Given the description of an element on the screen output the (x, y) to click on. 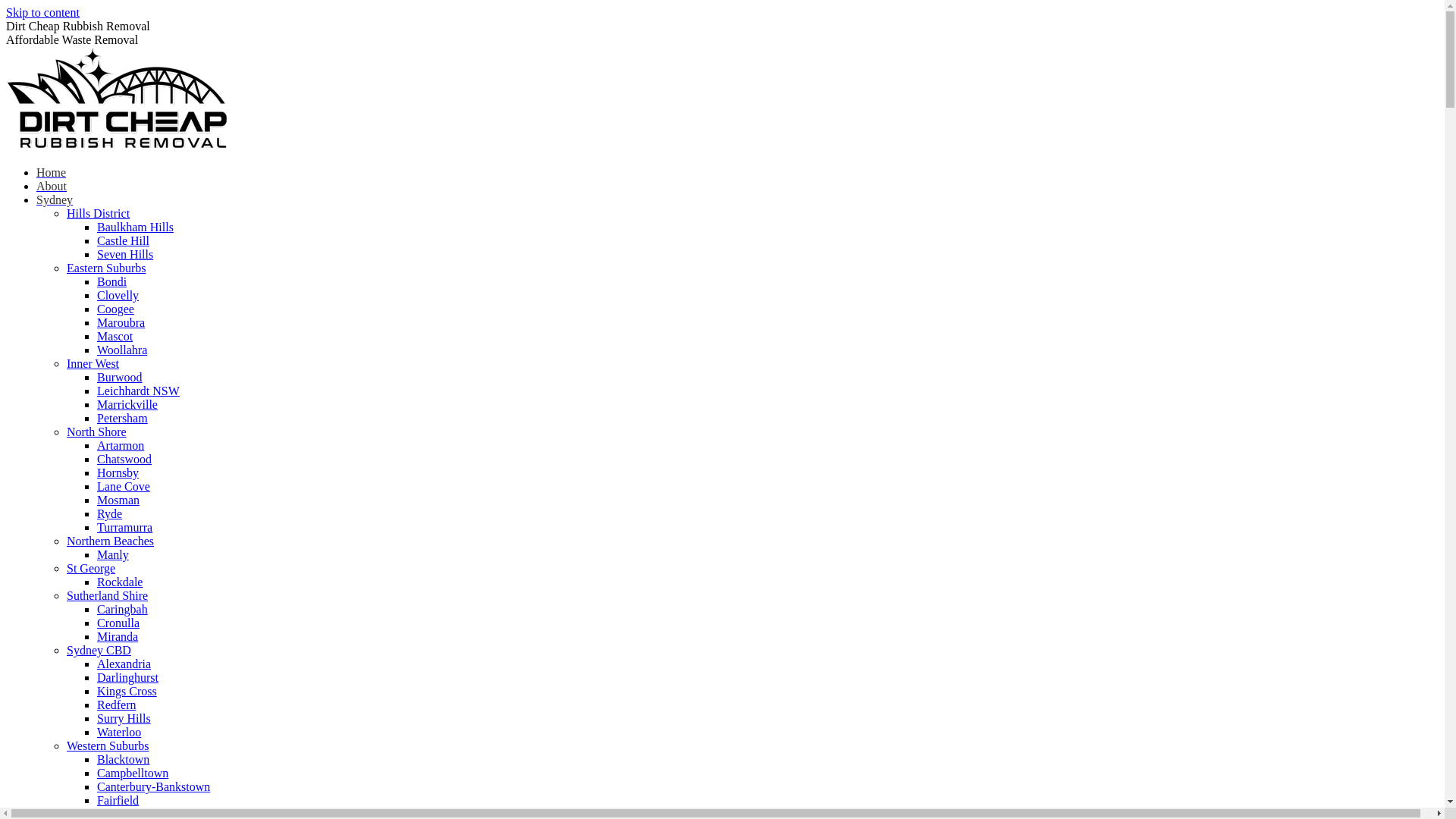
Caringbah Element type: text (122, 608)
Alexandria Element type: text (123, 663)
Sydney CBD Element type: text (98, 649)
Northern Beaches Element type: text (109, 540)
Seven Hills Element type: text (125, 253)
Surry Hills Element type: text (123, 718)
Marrickville Element type: text (127, 404)
Petersham Element type: text (122, 417)
Inner West Element type: text (92, 363)
Artarmon Element type: text (120, 445)
Western Suburbs Element type: text (107, 745)
Leichhardt NSW Element type: text (138, 390)
Sutherland Shire Element type: text (106, 595)
Rockdale Element type: text (119, 581)
About Element type: text (51, 185)
Skip to content Element type: text (42, 12)
Blacktown Element type: text (123, 759)
Mosman Element type: text (118, 499)
Coogee Element type: text (115, 308)
Cronulla Element type: text (118, 622)
Kings Cross Element type: text (126, 690)
Eastern Suburbs Element type: text (105, 267)
Maroubra Element type: text (120, 322)
Campbelltown Element type: text (132, 772)
Chatswood Element type: text (124, 458)
Clovelly Element type: text (117, 294)
Hornsby Element type: text (117, 472)
Ryde Element type: text (109, 513)
North Shore Element type: text (96, 431)
Waterloo Element type: text (119, 731)
Turramurra Element type: text (124, 526)
Castle Hill Element type: text (123, 240)
Hills District Element type: text (97, 213)
Miranda Element type: text (117, 636)
Home Element type: text (50, 172)
St George Element type: text (90, 567)
Redfern Element type: text (116, 704)
Woollahra Element type: text (122, 349)
Mascot Element type: text (114, 335)
Canterbury-Bankstown Element type: text (153, 786)
Sydney Element type: text (54, 199)
Darlinghurst Element type: text (127, 677)
Fairfield Element type: text (117, 799)
Bondi Element type: text (111, 281)
Baulkham Hills Element type: text (135, 226)
Manly Element type: text (112, 554)
Burwood Element type: text (119, 376)
Lane Cove Element type: text (123, 486)
